Given the description of an element on the screen output the (x, y) to click on. 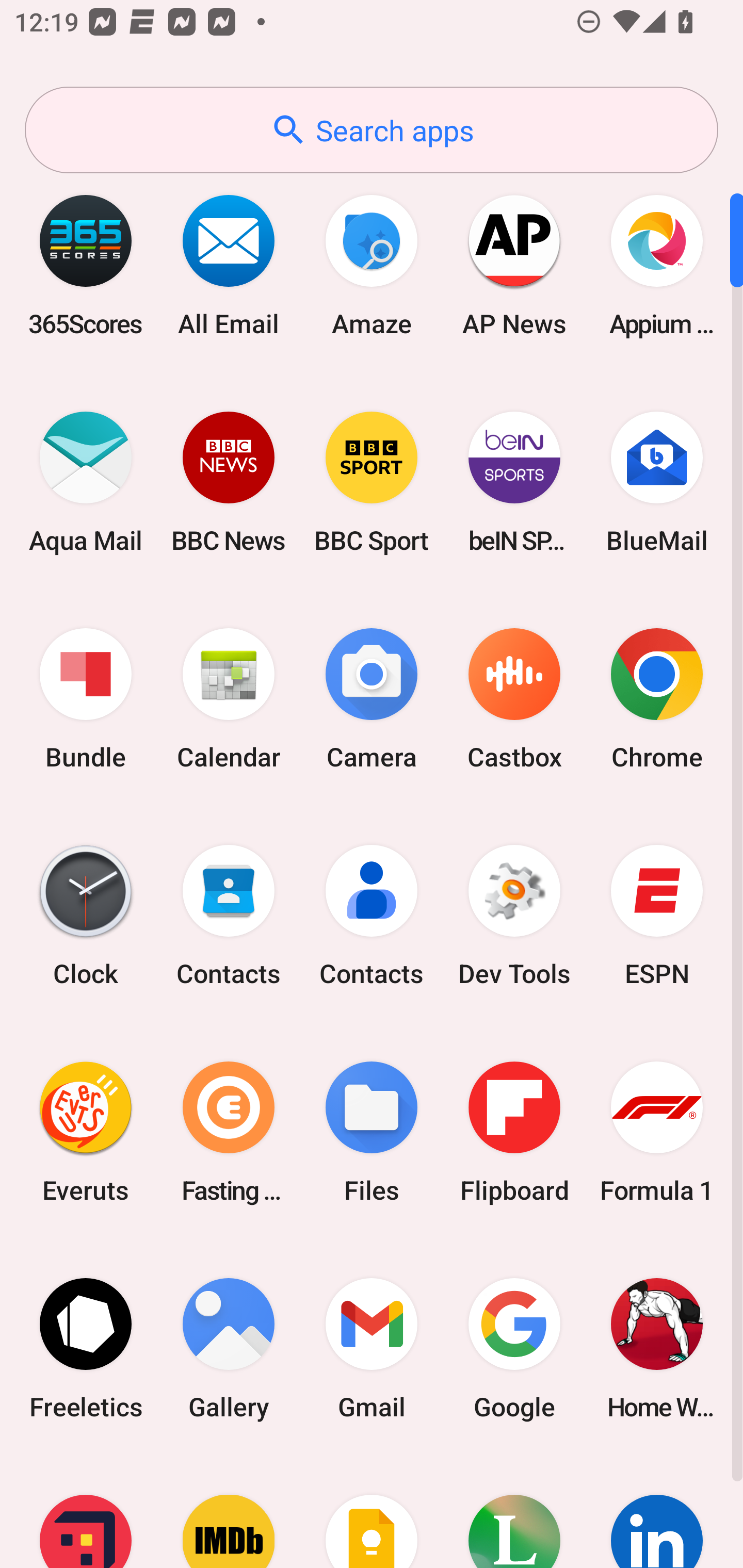
  Search apps (371, 130)
365Scores (85, 264)
All Email (228, 264)
Amaze (371, 264)
AP News (514, 264)
Appium Settings (656, 264)
Aqua Mail (85, 482)
BBC News (228, 482)
BBC Sport (371, 482)
beIN SPORTS (514, 482)
BlueMail (656, 482)
Bundle (85, 699)
Calendar (228, 699)
Camera (371, 699)
Castbox (514, 699)
Chrome (656, 699)
Clock (85, 915)
Contacts (228, 915)
Contacts (371, 915)
Dev Tools (514, 915)
ESPN (656, 915)
Everuts (85, 1131)
Fasting Coach (228, 1131)
Files (371, 1131)
Flipboard (514, 1131)
Formula 1 (656, 1131)
Freeletics (85, 1348)
Gallery (228, 1348)
Gmail (371, 1348)
Google (514, 1348)
Home Workout (656, 1348)
Hotels.com (85, 1512)
IMDb (228, 1512)
Keep Notes (371, 1512)
Lifesum (514, 1512)
LinkedIn (656, 1512)
